Given the description of an element on the screen output the (x, y) to click on. 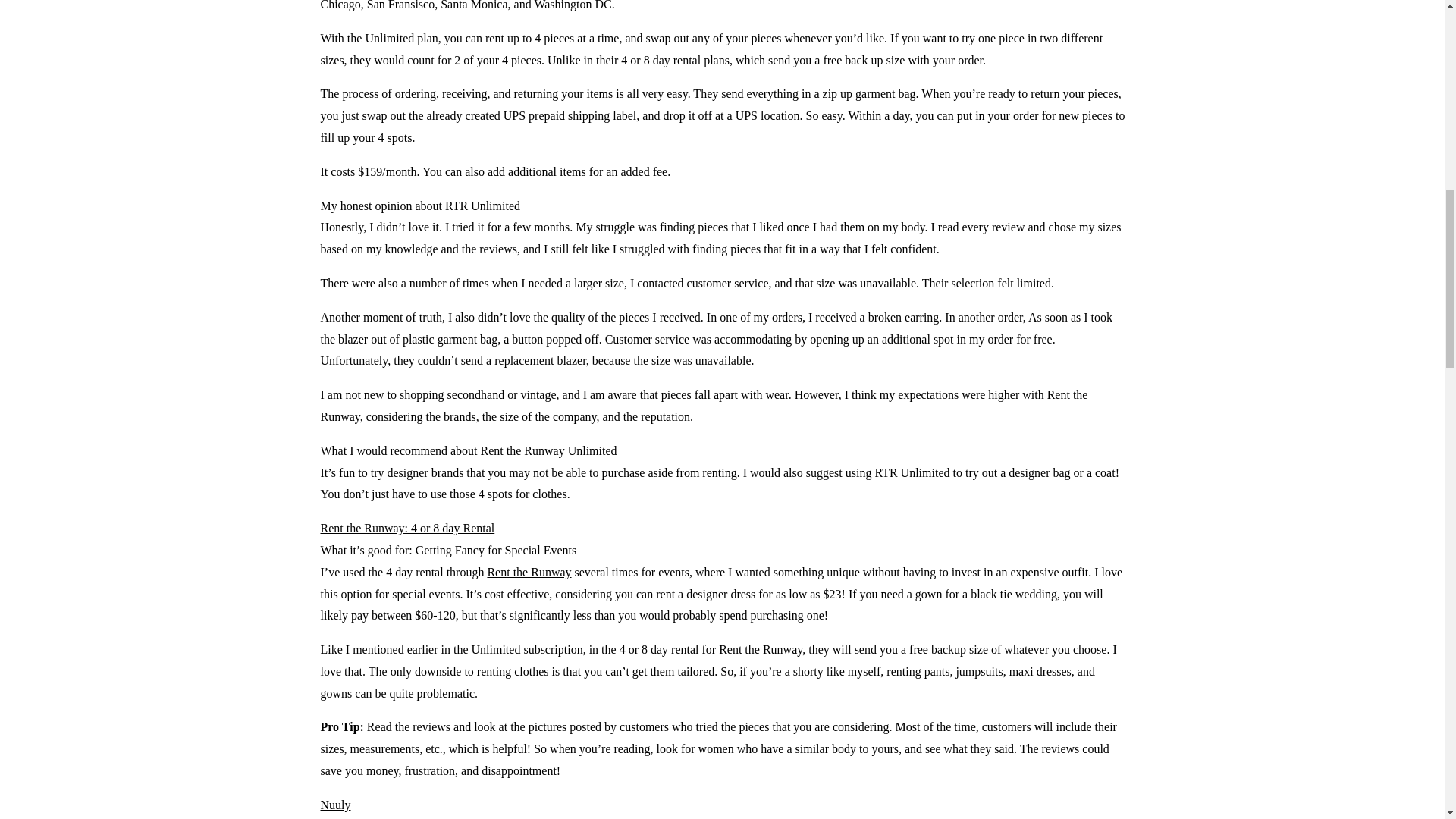
Rent the Runway: 4 or 8 day Rental (407, 527)
Nuuly (335, 804)
Rent the Runway (528, 571)
